Given the description of an element on the screen output the (x, y) to click on. 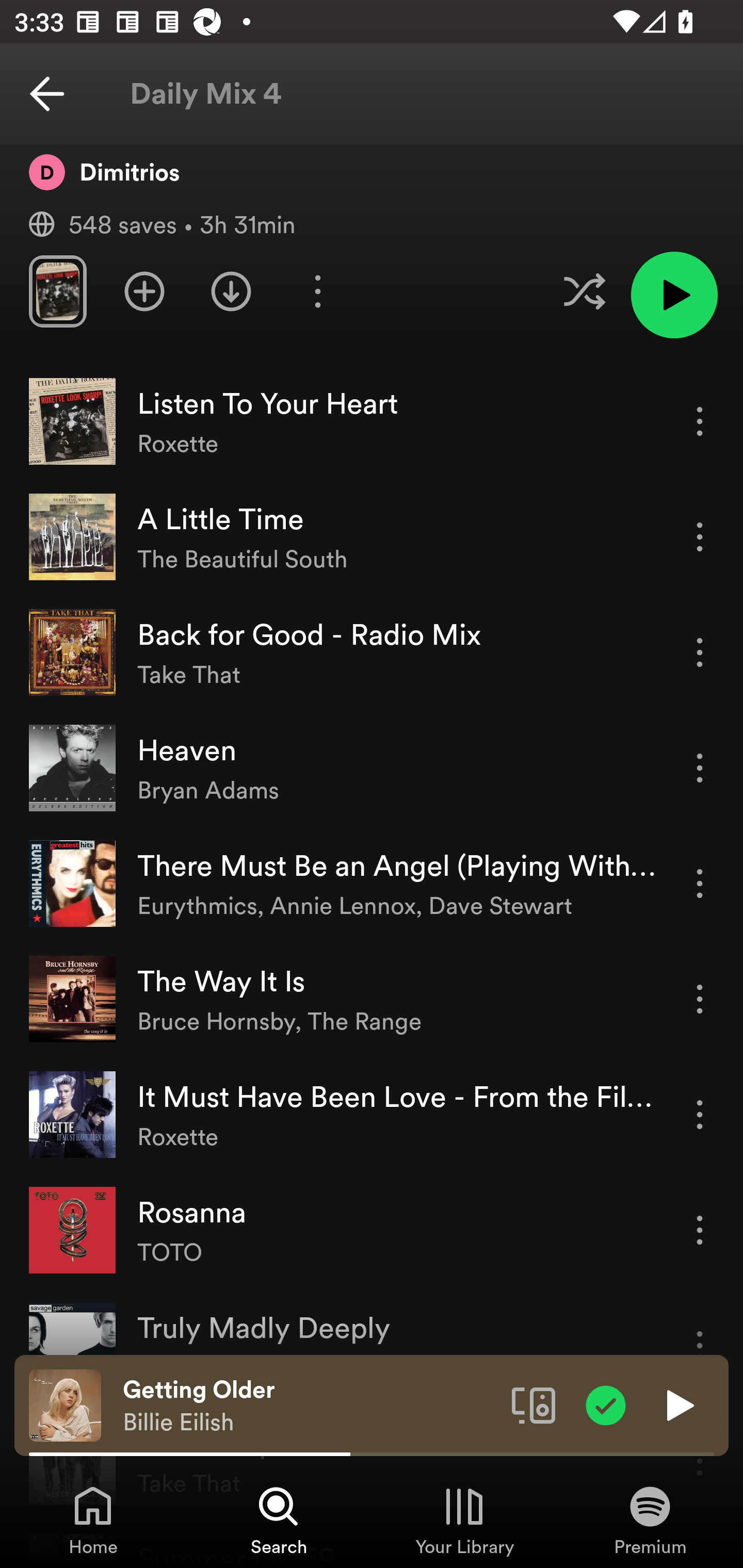
Back (46, 93)
Dimitrios (103, 171)
Swipe through previews of tracks in this playlist. (57, 290)
Add playlist to Your Library (144, 290)
Download (230, 290)
More options for playlist Daily Mix 4 (317, 290)
Enable shuffle for this playlist (583, 290)
Play playlist (674, 294)
More options for song Listen To Your Heart (699, 420)
More options for song A Little Time (699, 536)
More options for song Back for Good - Radio Mix (699, 652)
Heaven Bryan Adams More options for song Heaven (371, 768)
More options for song Heaven (699, 767)
More options for song The Way It Is (699, 999)
